Given the description of an element on the screen output the (x, y) to click on. 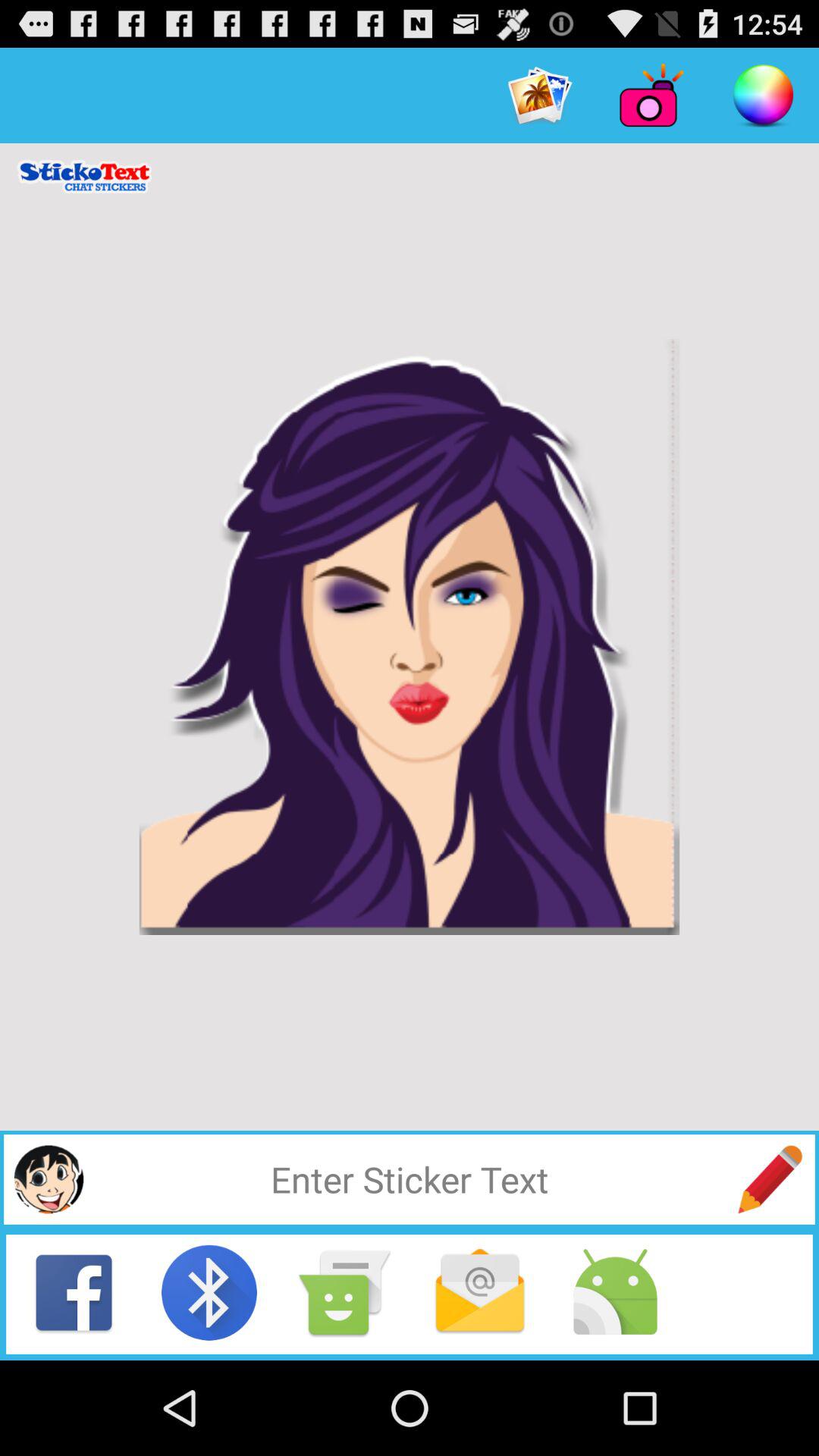
bluetooth button (209, 1292)
